Given the description of an element on the screen output the (x, y) to click on. 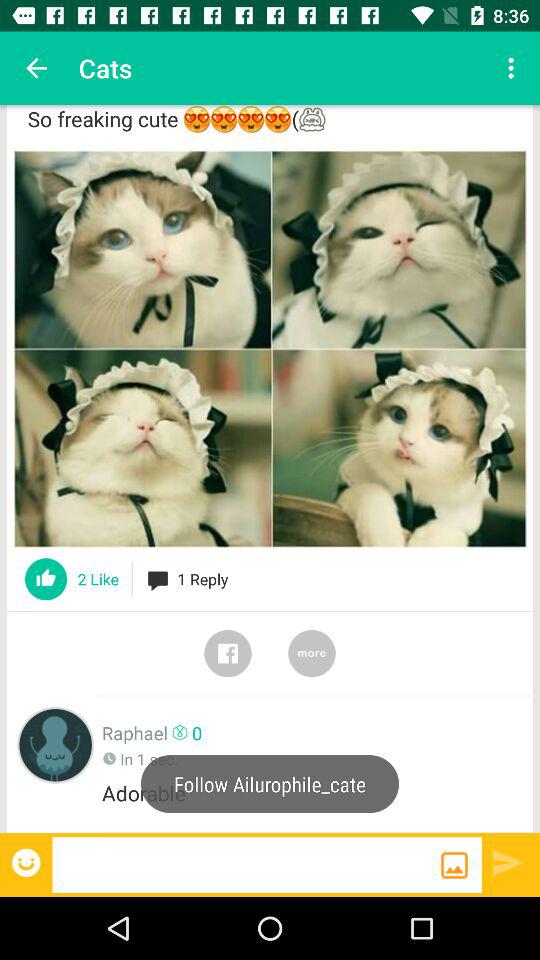
emojis (28, 862)
